Given the description of an element on the screen output the (x, y) to click on. 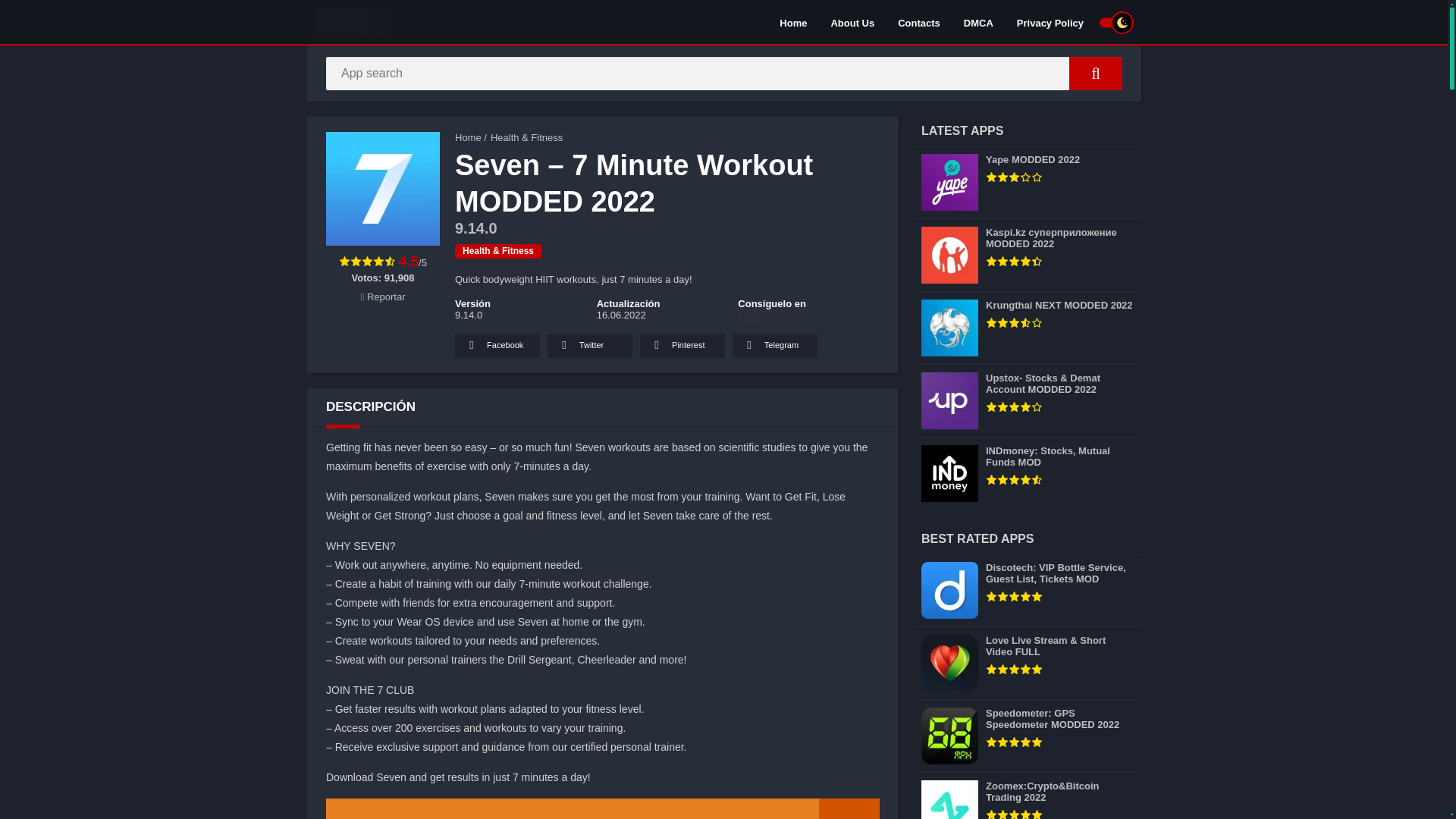
Home (467, 137)
Telegram (774, 345)
App search (1095, 73)
DMCA (978, 22)
Home (793, 22)
APK PEAK (467, 137)
Reportar (383, 296)
ALSO DOWNLOAD  Fitbit MODDED 2022 (602, 808)
Facebook (497, 345)
Twitter (589, 345)
Contacts (919, 22)
Privacy Policy (1050, 22)
About Us (851, 22)
Pinterest (682, 345)
